Given the description of an element on the screen output the (x, y) to click on. 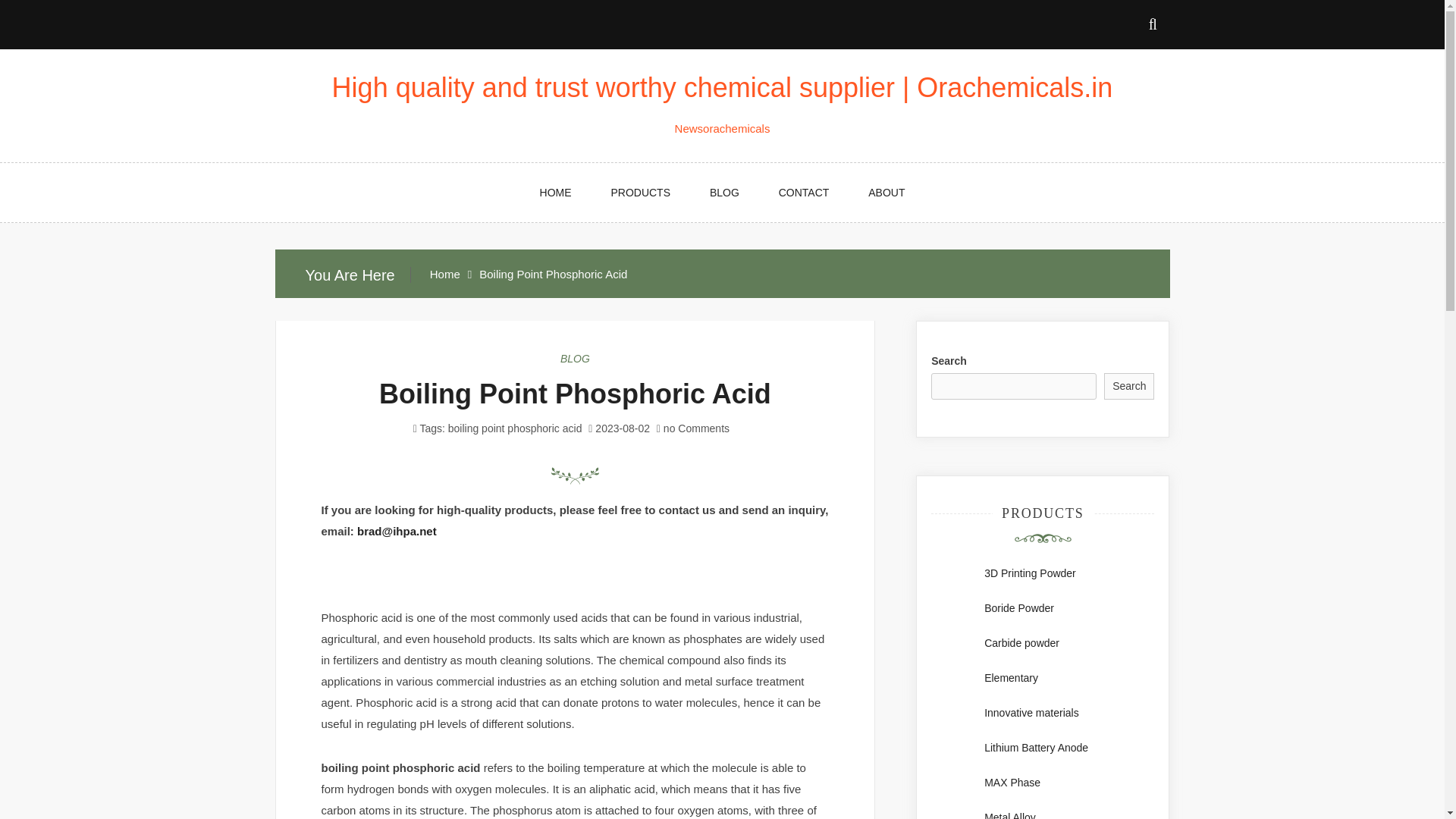
ABOUT (886, 191)
Boiling Point Phosphoric Acid (574, 393)
no Comments (692, 428)
Carbide powder (1021, 643)
Boride Powder (1019, 607)
CONTACT (803, 191)
PRODUCTS (640, 191)
3D Printing Powder (1029, 573)
Home (444, 273)
2023-08-02 (622, 428)
boiling point phosphoric acid (515, 428)
Elementary (1011, 677)
Search (1128, 386)
HOME (555, 191)
BLOG (724, 191)
